Given the description of an element on the screen output the (x, y) to click on. 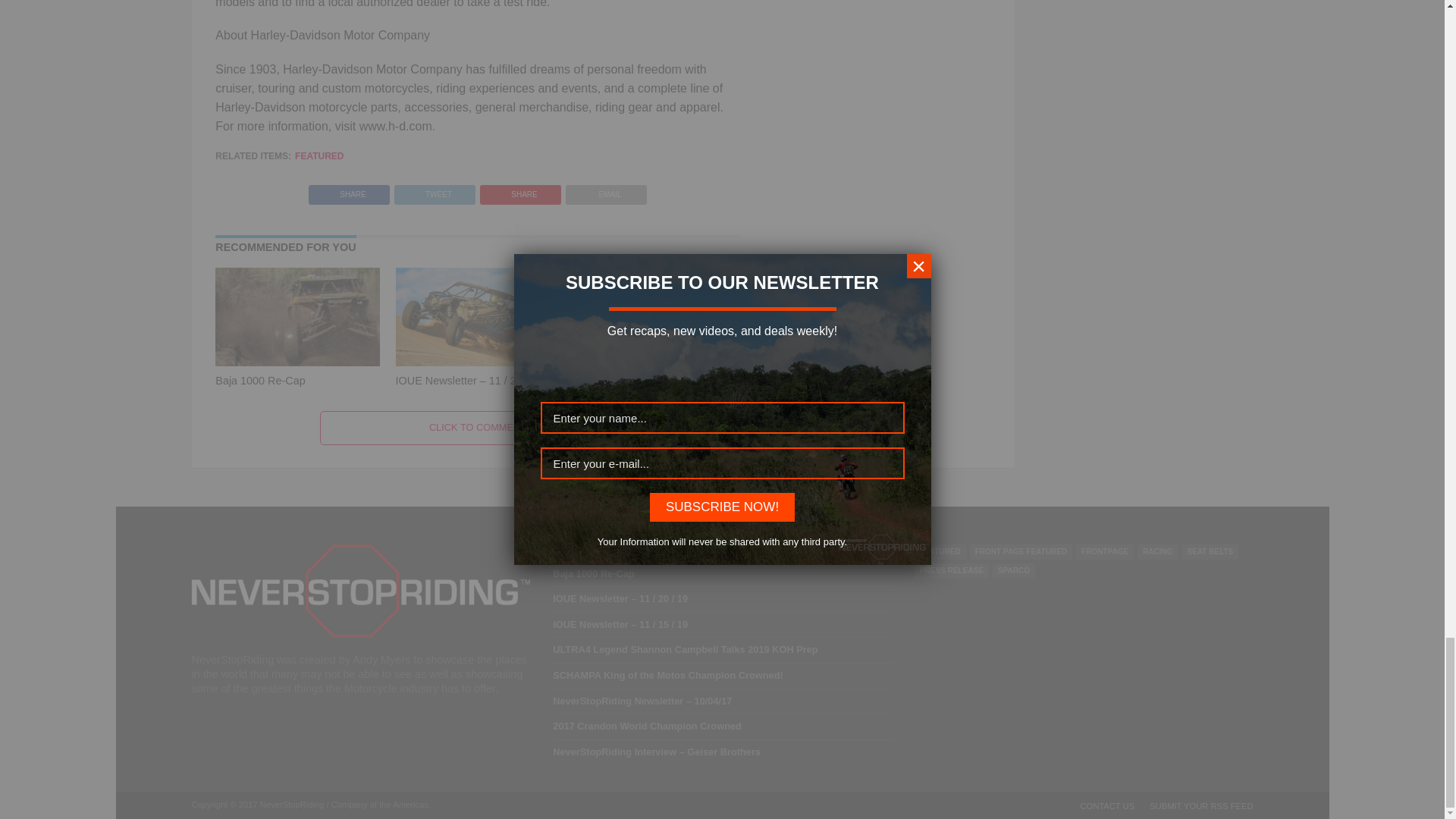
Baja 1000 Re-Cap (297, 361)
Share on Facebook (349, 190)
TWEET (434, 190)
Pin This Post (520, 190)
SHARE (520, 190)
Baja 1000 Re-Cap (259, 380)
Tweet This Post (434, 190)
FEATURED (319, 155)
EMAIL (605, 190)
SHARE (349, 190)
